Given the description of an element on the screen output the (x, y) to click on. 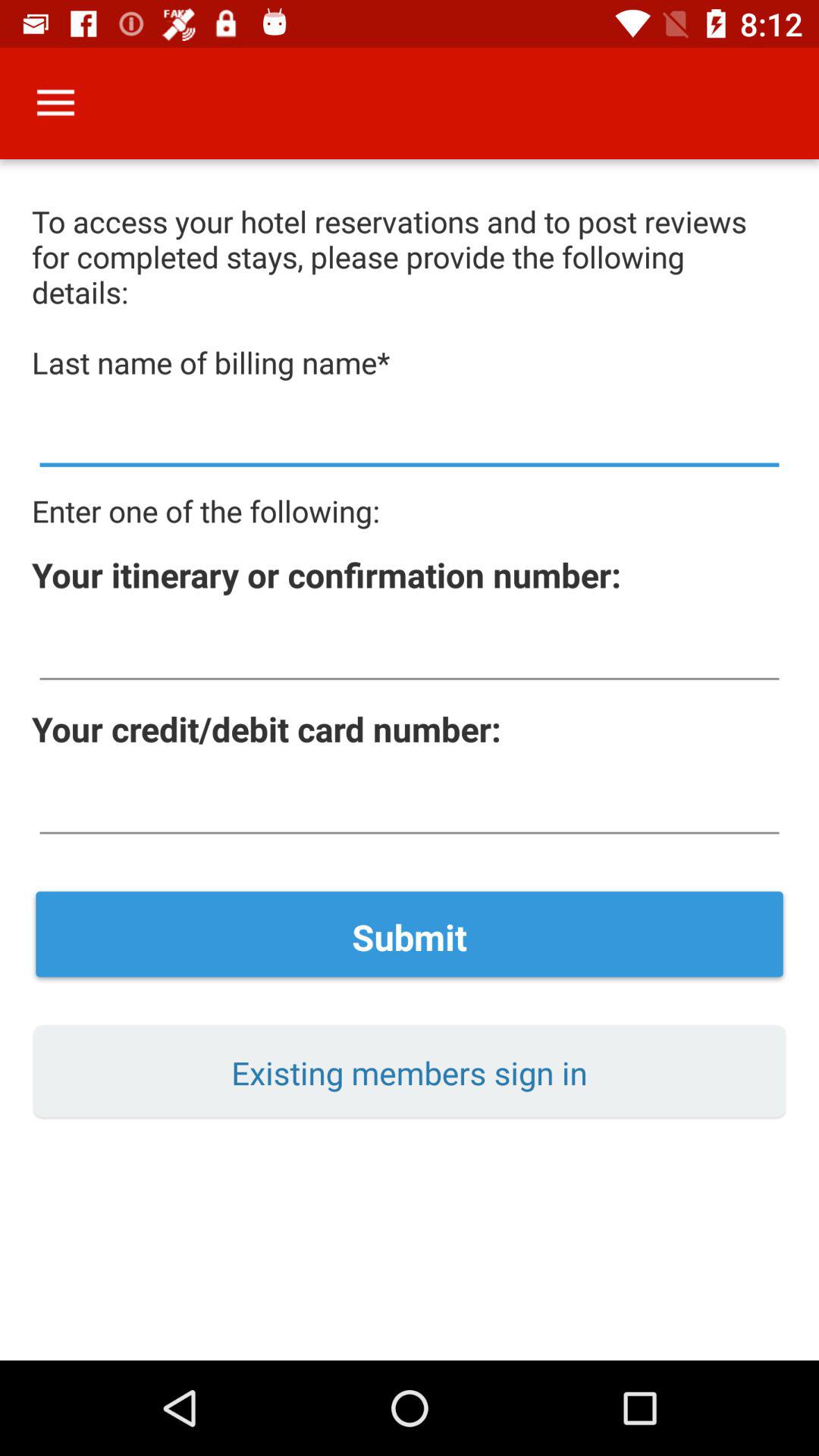
turn off the icon below the submit item (409, 1072)
